Given the description of an element on the screen output the (x, y) to click on. 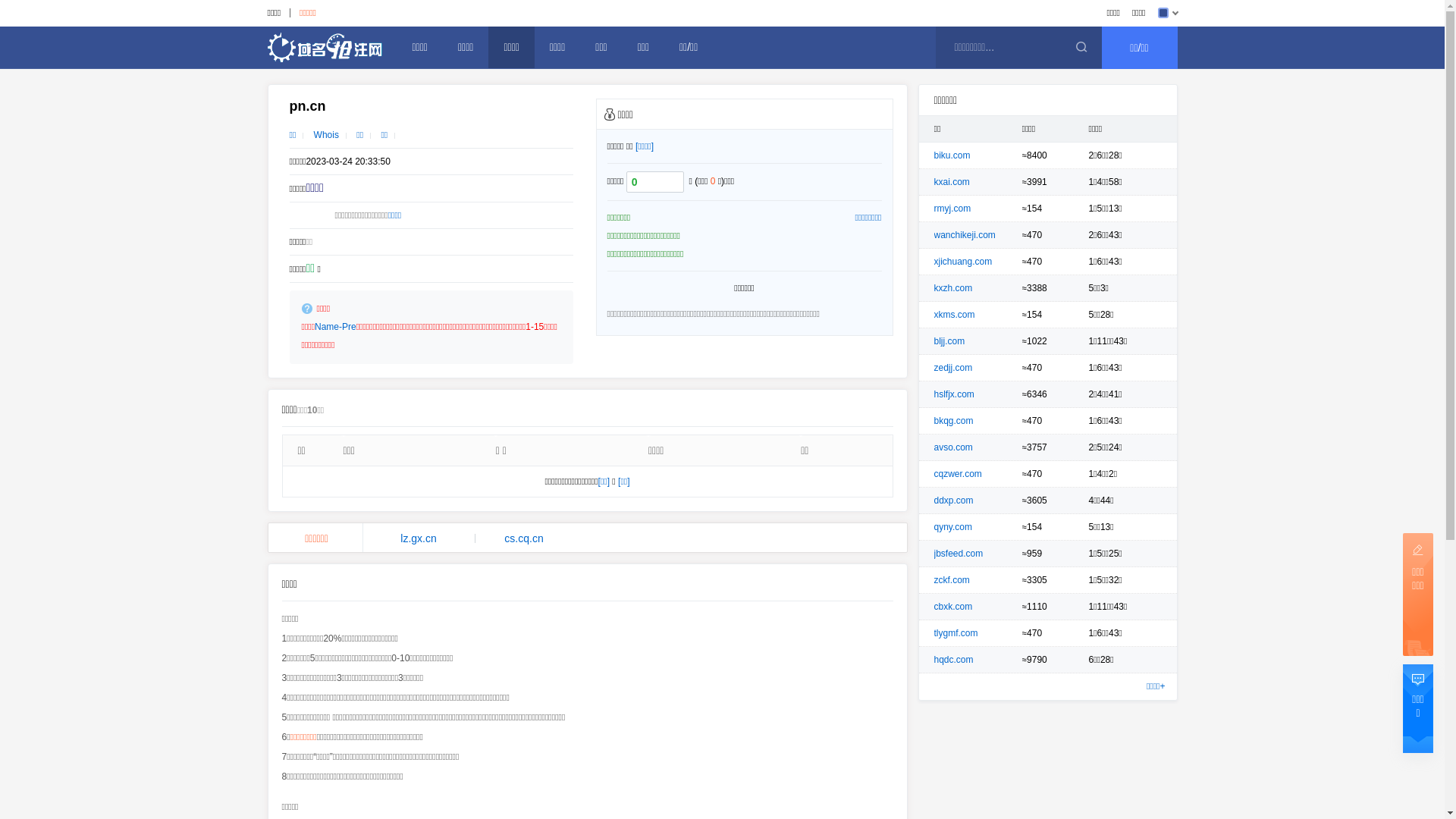
jbsfeed.com Element type: text (958, 553)
biku.com Element type: text (952, 155)
hslfjx.com Element type: text (954, 394)
ddxp.com Element type: text (953, 500)
zedjj.com Element type: text (953, 367)
Name-Pre Element type: text (335, 326)
xkms.com Element type: text (954, 314)
lz.gx.cn Element type: text (417, 538)
tlygmf.com Element type: text (956, 632)
cbxk.com Element type: text (953, 606)
xjichuang.com Element type: text (963, 261)
wanchikeji.com Element type: text (964, 234)
hqdc.com Element type: text (953, 659)
bkqg.com Element type: text (953, 420)
avso.com Element type: text (953, 447)
kxzh.com Element type: text (953, 287)
bljj.com Element type: text (949, 340)
qyny.com Element type: text (953, 526)
zckf.com Element type: text (951, 579)
rmyj.com Element type: text (952, 208)
kxai.com Element type: text (951, 181)
cqzwer.com Element type: text (958, 473)
cs.cq.cn Element type: text (524, 538)
Whois Element type: text (326, 134)
